Given the description of an element on the screen output the (x, y) to click on. 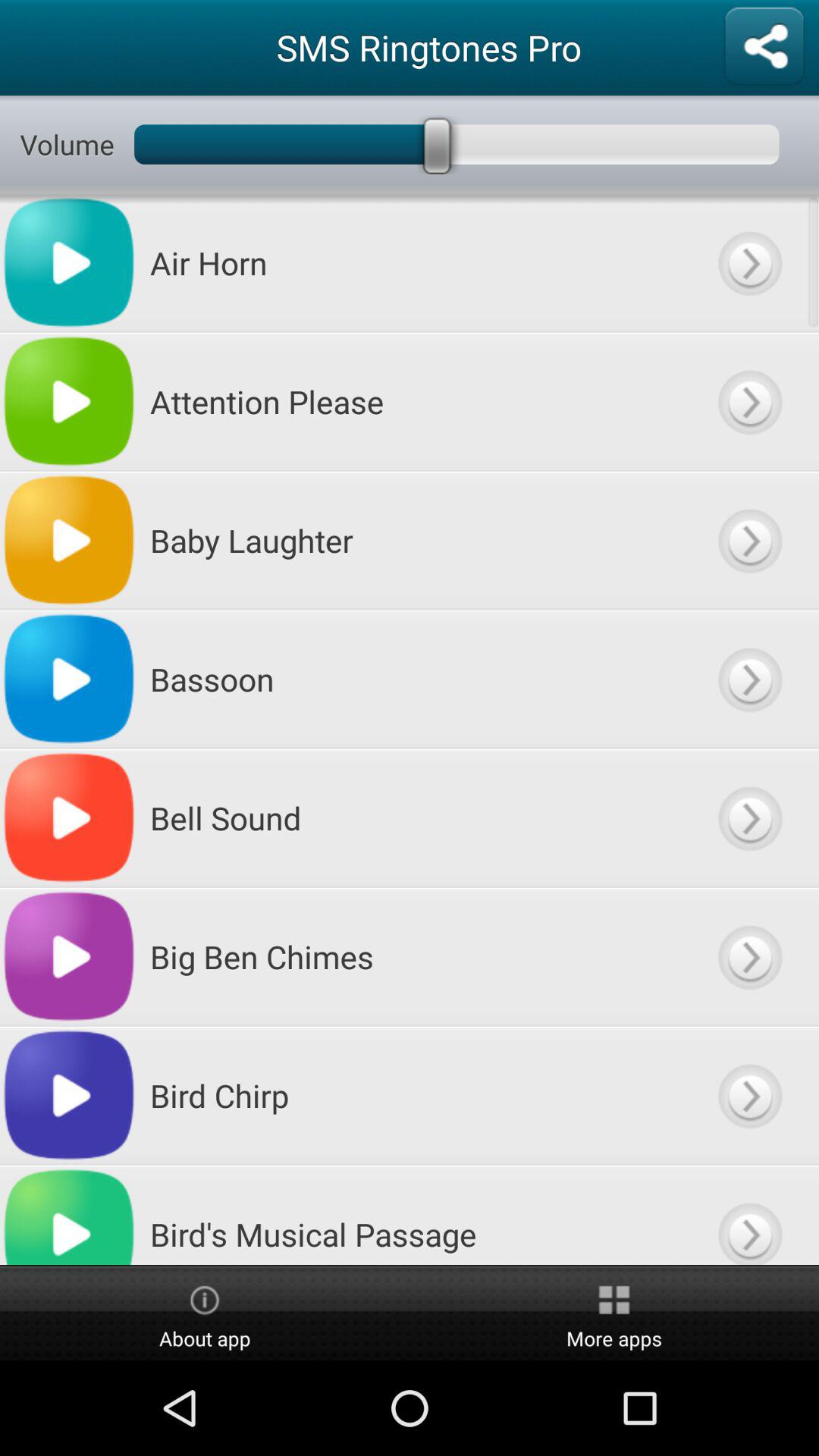
go to back (749, 540)
